Given the description of an element on the screen output the (x, y) to click on. 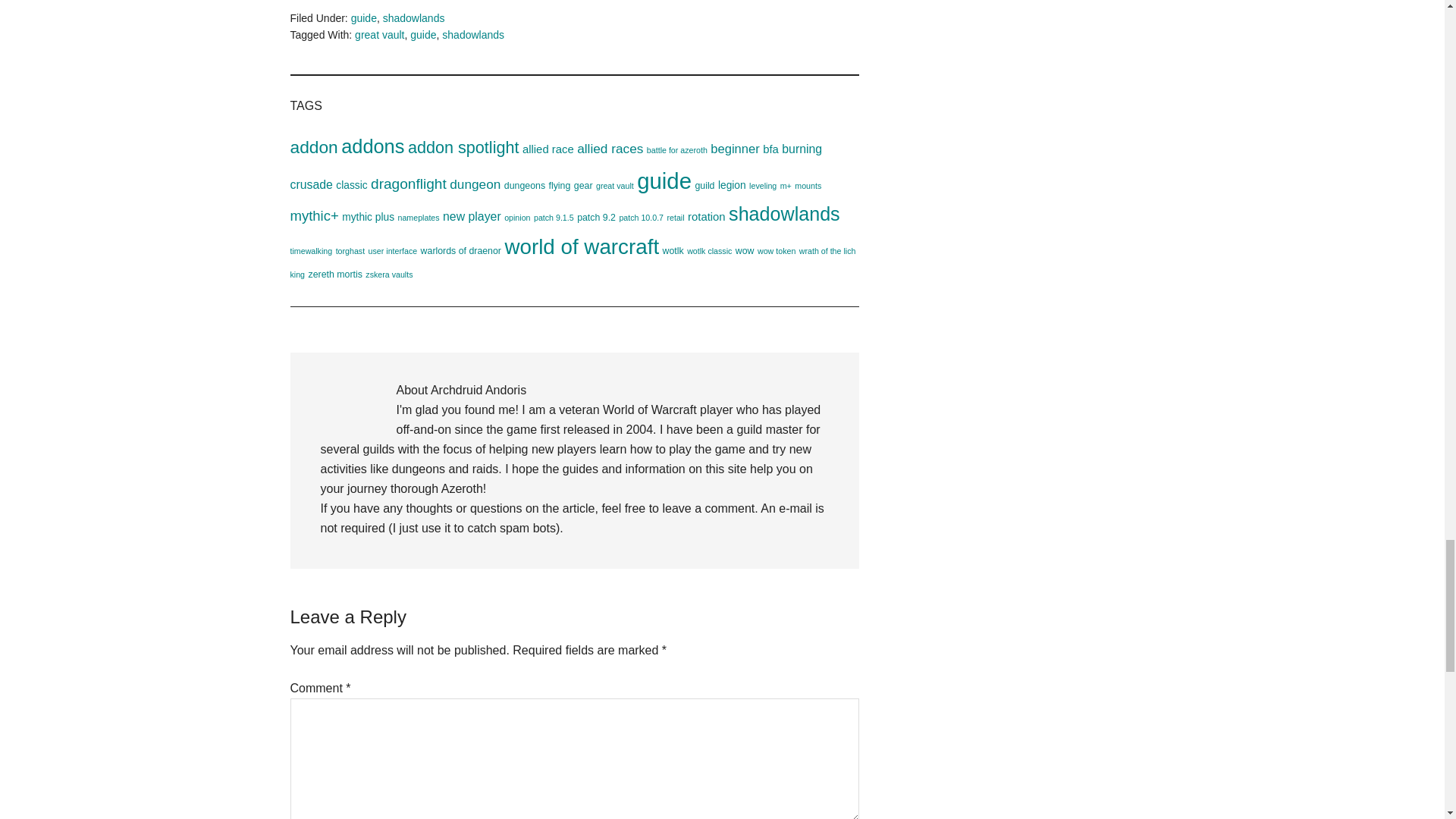
shadowlands (413, 18)
addon (313, 147)
addon spotlight (463, 147)
great vault (379, 34)
guide (422, 34)
addons (372, 146)
allied races (609, 148)
shadowlands (472, 34)
guide (363, 18)
battle for azeroth (676, 149)
allied race (547, 149)
